Given the description of an element on the screen output the (x, y) to click on. 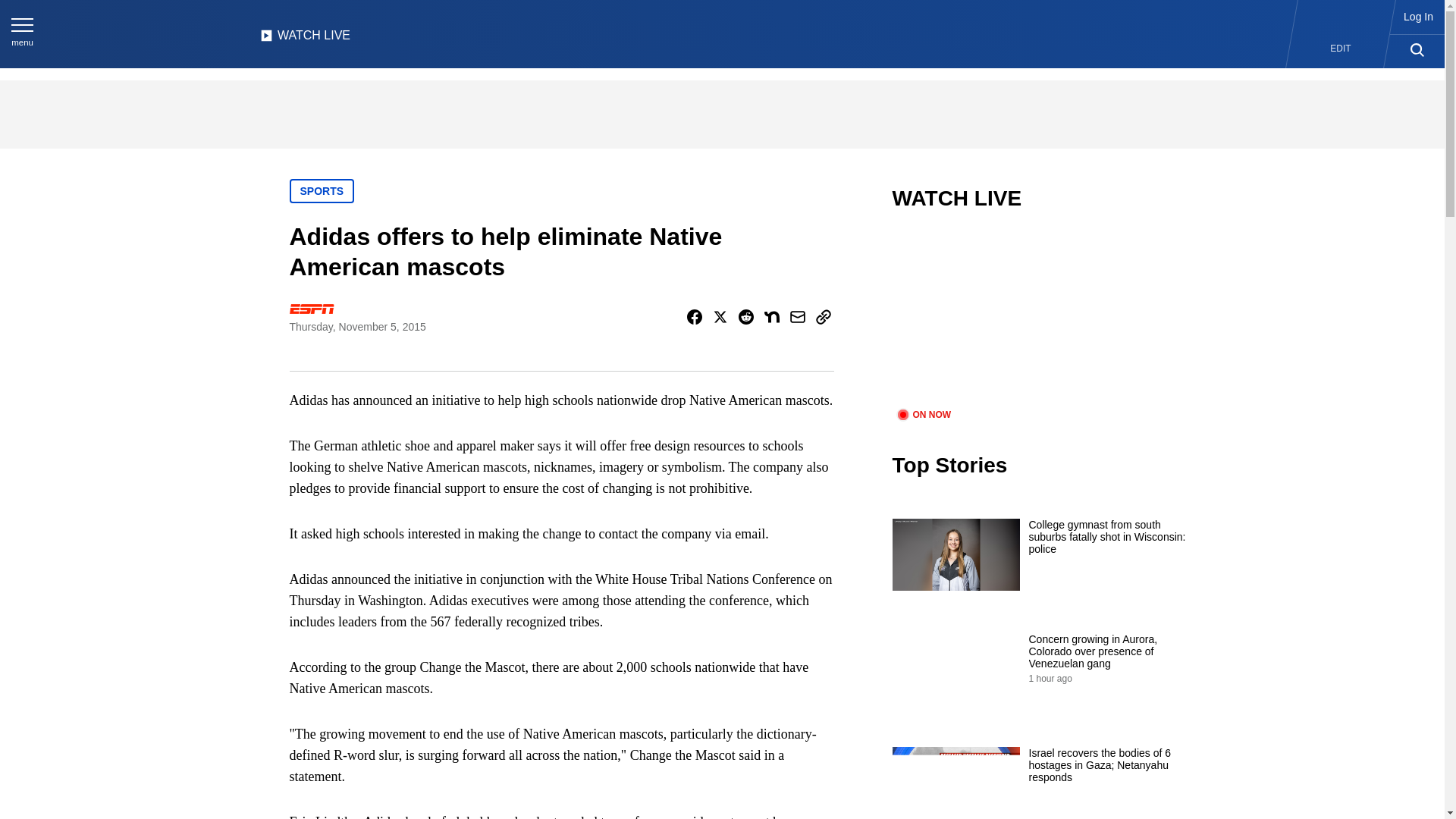
video.title (1043, 318)
EDIT (1340, 48)
WATCH LIVE (305, 39)
